Given the description of an element on the screen output the (x, y) to click on. 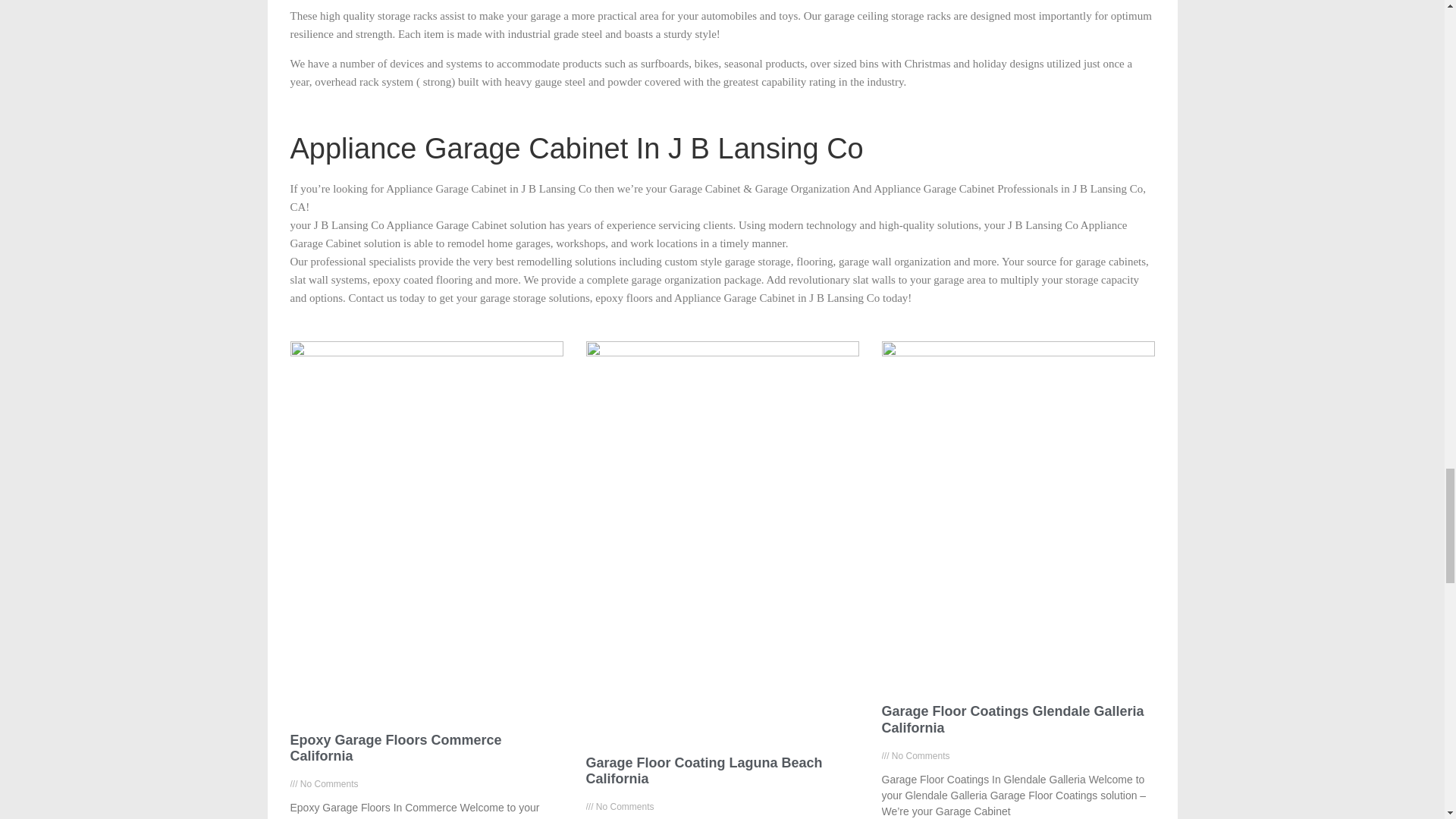
Garage Floor Coatings Glendale Galleria California (1011, 719)
Epoxy Garage Floors Commerce California (394, 748)
Garage Floor Coating Laguna Beach California (703, 771)
